Given the description of an element on the screen output the (x, y) to click on. 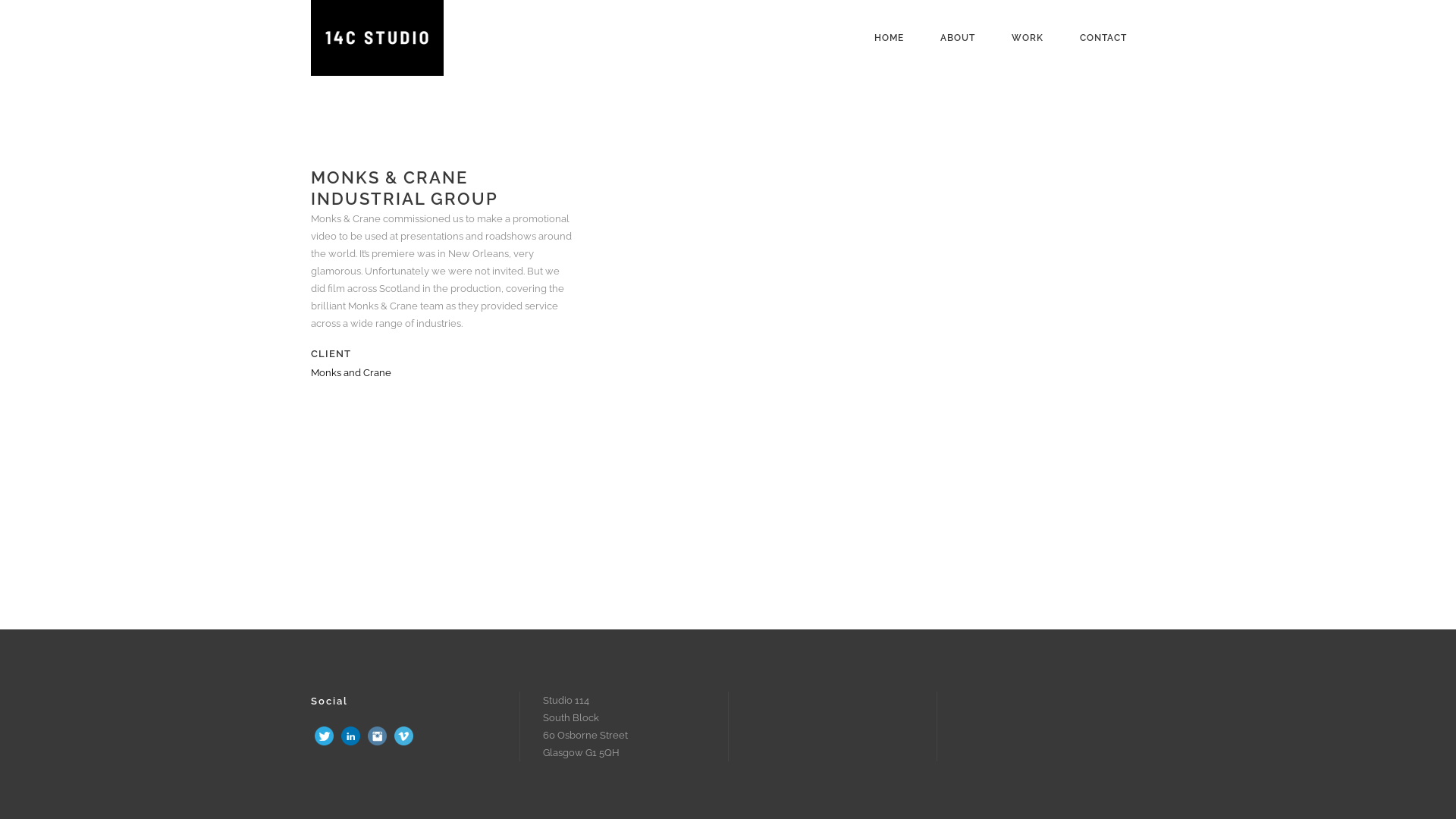
Monks and Crane Element type: text (350, 372)
WORK Element type: text (1027, 37)
CONTACT Element type: text (1103, 37)
HOME Element type: text (889, 37)
ABOUT Element type: text (957, 37)
